Given the description of an element on the screen output the (x, y) to click on. 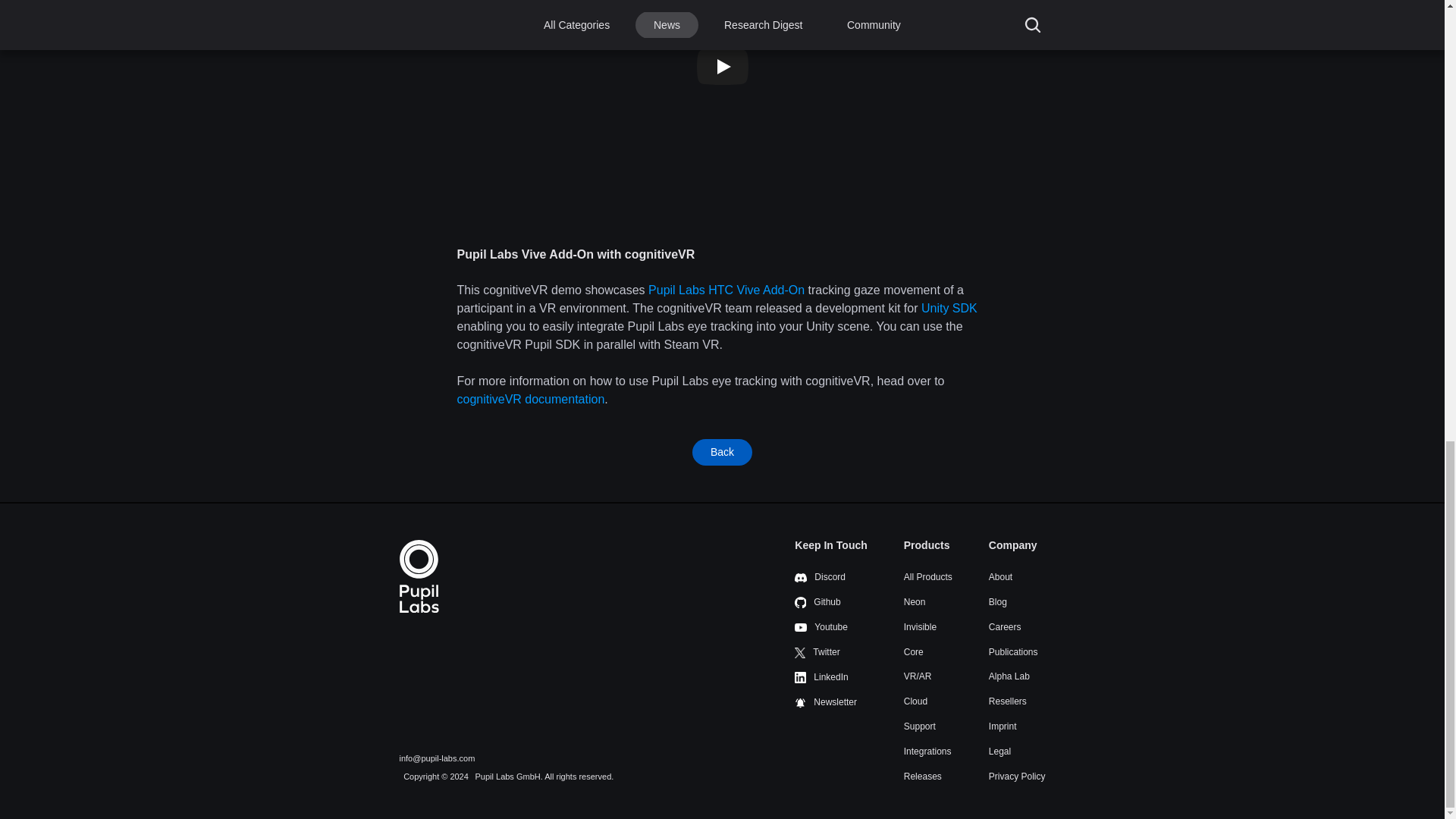
Careers (1005, 626)
LinkedIn (820, 676)
Integrations (928, 751)
Github (817, 602)
Blog (997, 602)
Neon (915, 602)
Twitter (817, 652)
Unity SDK (948, 308)
cognitiveVR documentation (530, 399)
Cloud (915, 701)
